Given the description of an element on the screen output the (x, y) to click on. 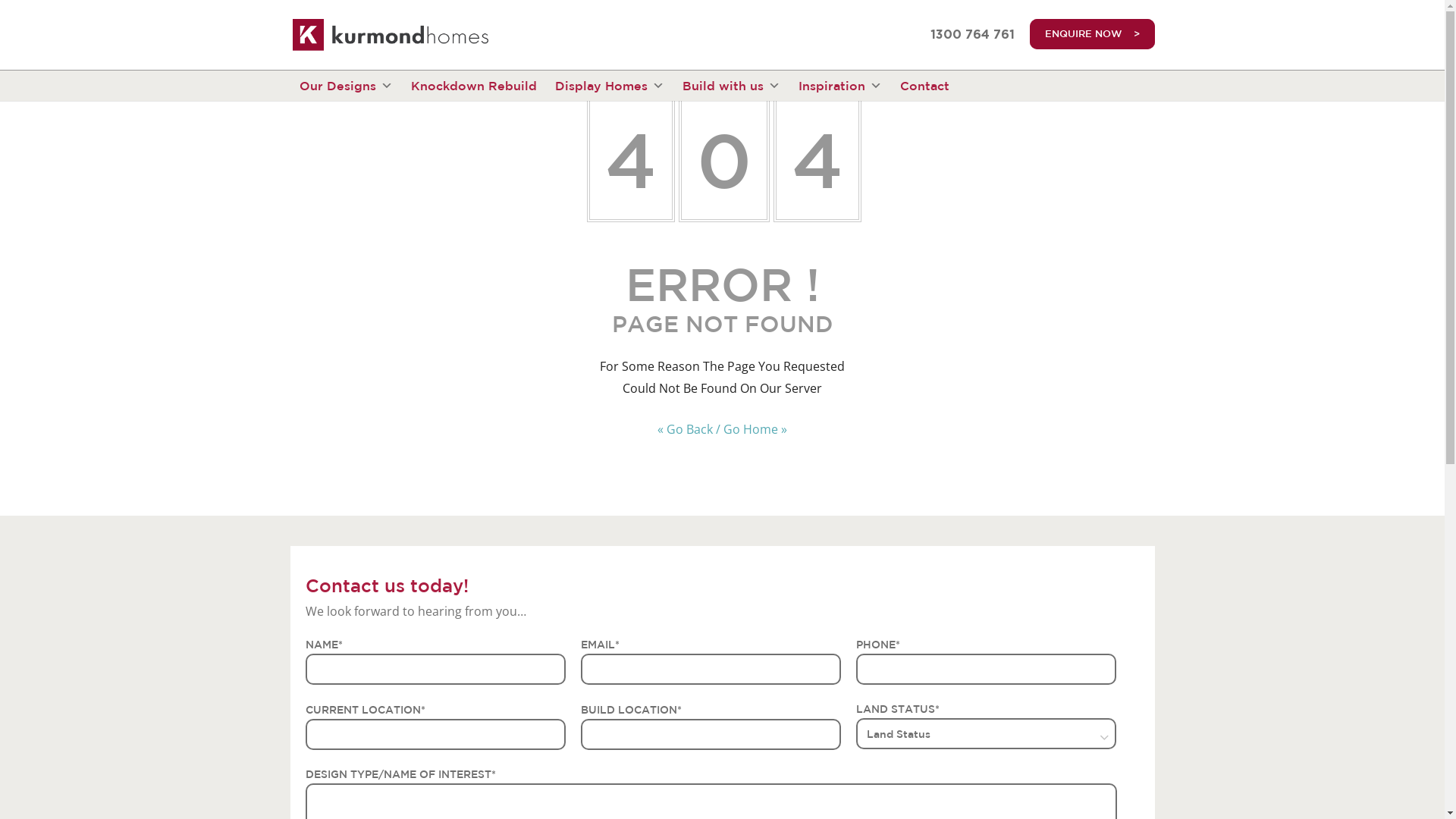
Display Homes Element type: text (609, 85)
Contact Element type: text (923, 85)
Inspiration Element type: text (839, 85)
Build with us Element type: text (731, 85)
Knockdown Rebuild Element type: text (473, 85)
ENQUIRE NOW Element type: text (1091, 33)
Our Designs Element type: text (345, 85)
1300 764 761 Element type: text (971, 34)
